Given the description of an element on the screen output the (x, y) to click on. 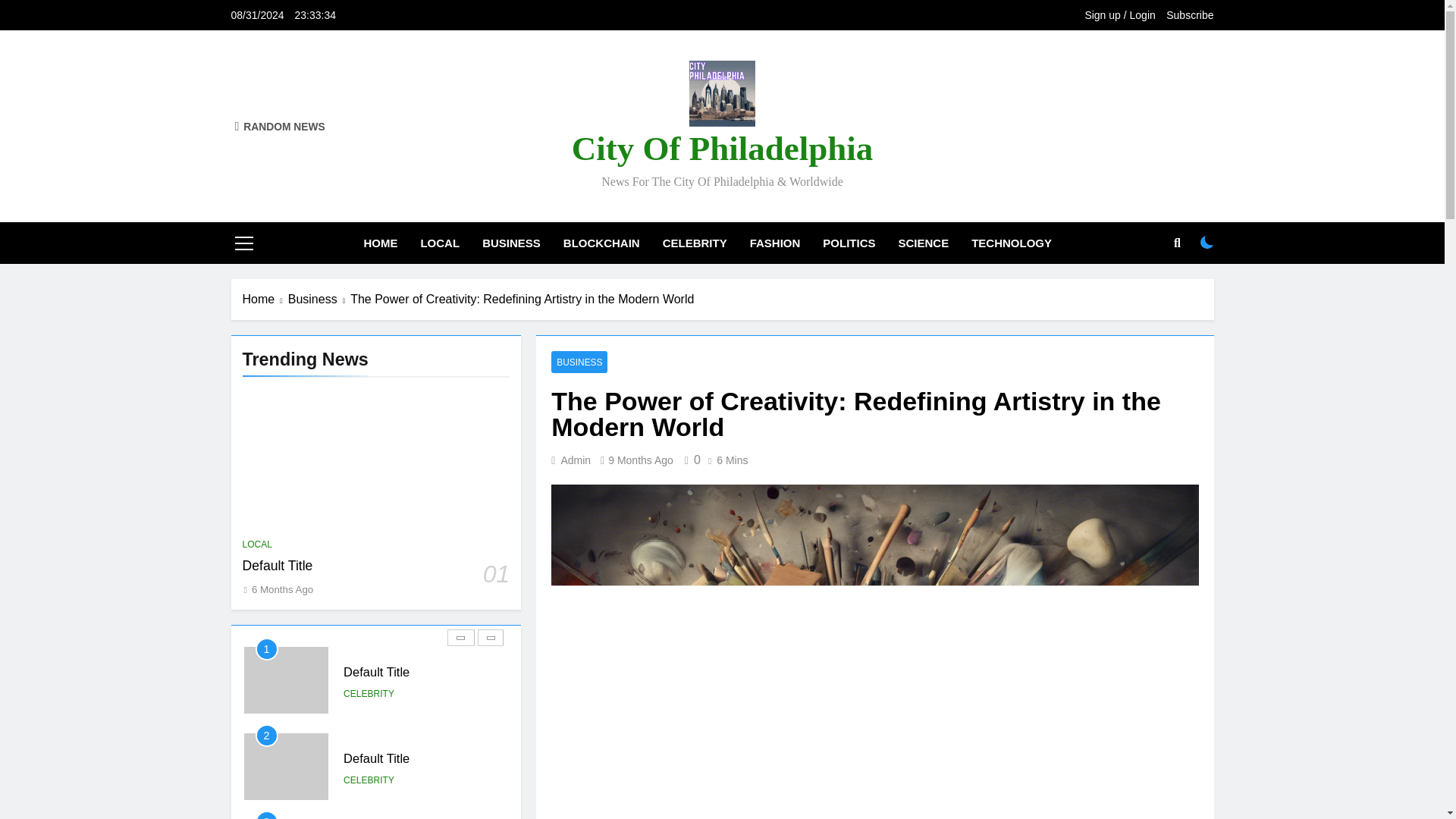
6 Months Ago (282, 589)
BLOCKCHAIN (600, 242)
SCIENCE (923, 242)
Default Title (278, 565)
LOCAL (257, 544)
Business (319, 299)
Home (265, 299)
POLITICS (848, 242)
HOME (380, 242)
